Given the description of an element on the screen output the (x, y) to click on. 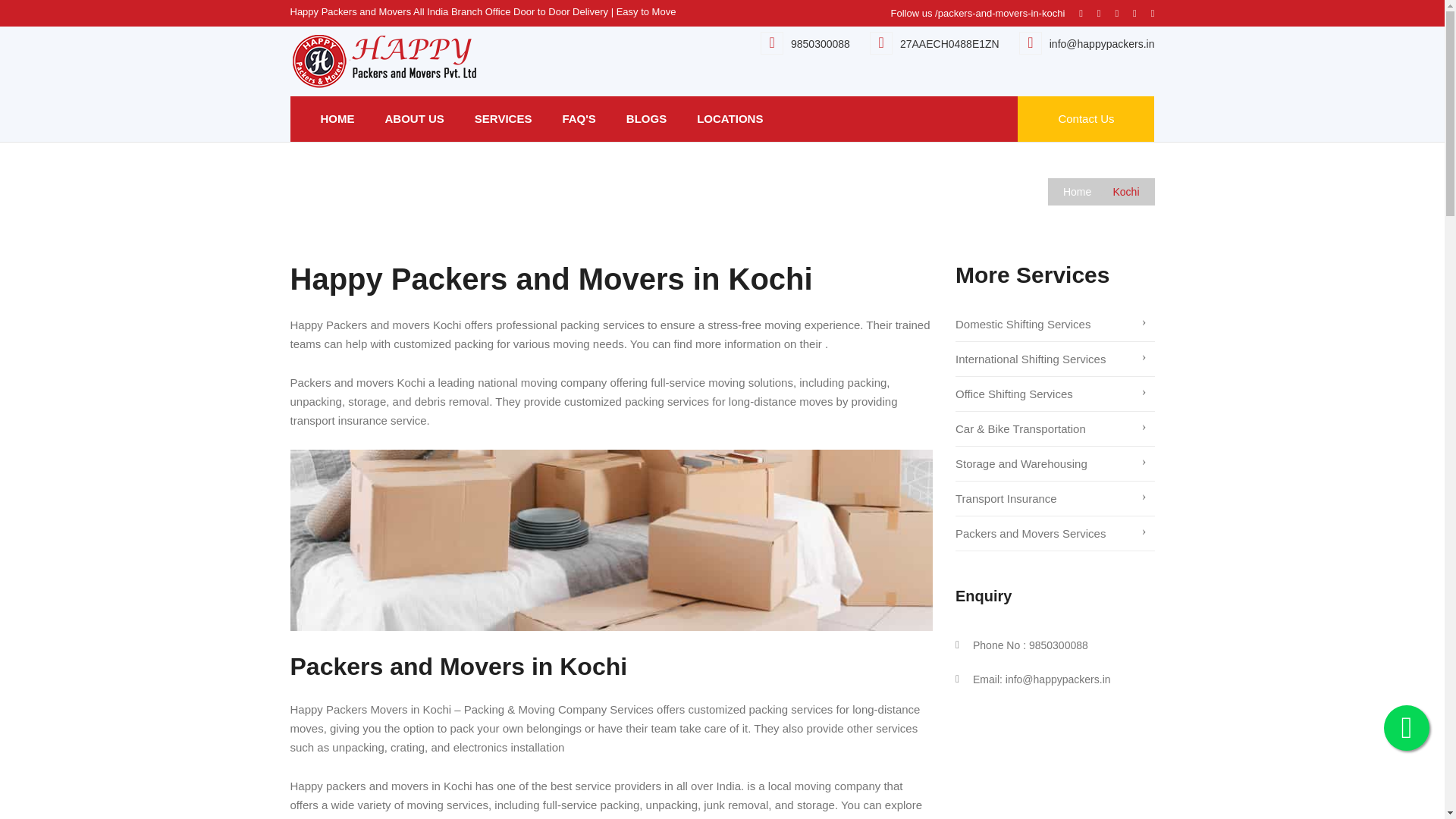
27AAECH0488E1ZN (948, 43)
FAQ'S (578, 118)
Transport Insurance (1054, 498)
Packers and Movers Services (1054, 533)
ABOUT US (414, 118)
Office Shifting Services (1054, 393)
Storage and Warehousing (1054, 463)
International Shifting Services (1054, 359)
9850300088 (820, 43)
Office Shifting Services (1054, 393)
LOCATIONS (729, 118)
International Shifting Services (1054, 359)
Domestic Shifting Services (1054, 324)
HOME (329, 118)
Home (1085, 191)
